Given the description of an element on the screen output the (x, y) to click on. 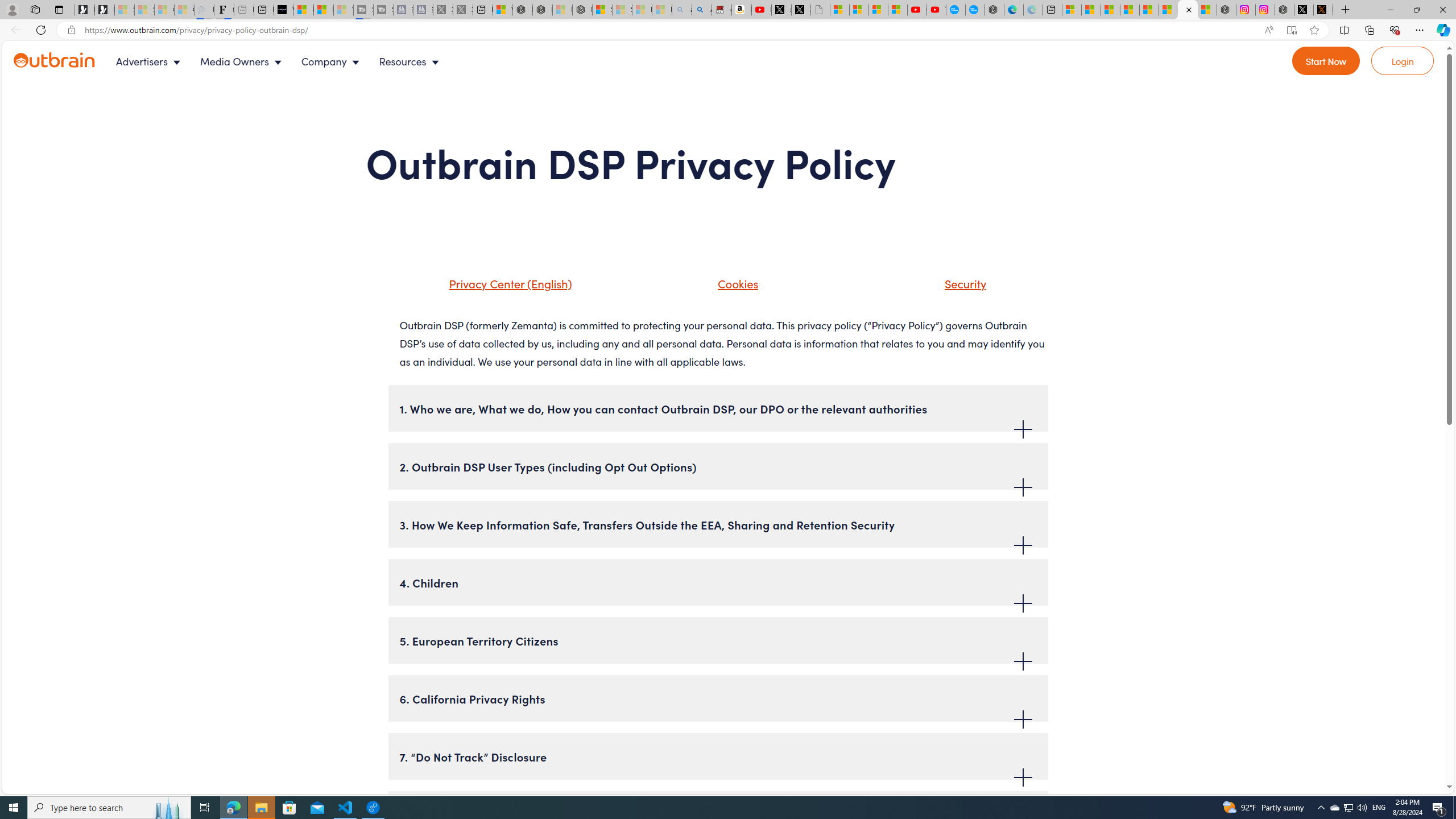
Privacy Center (English) (495, 287)
Shanghai, China hourly forecast | Microsoft Weather (1110, 9)
Go to login (1402, 60)
